Given the description of an element on the screen output the (x, y) to click on. 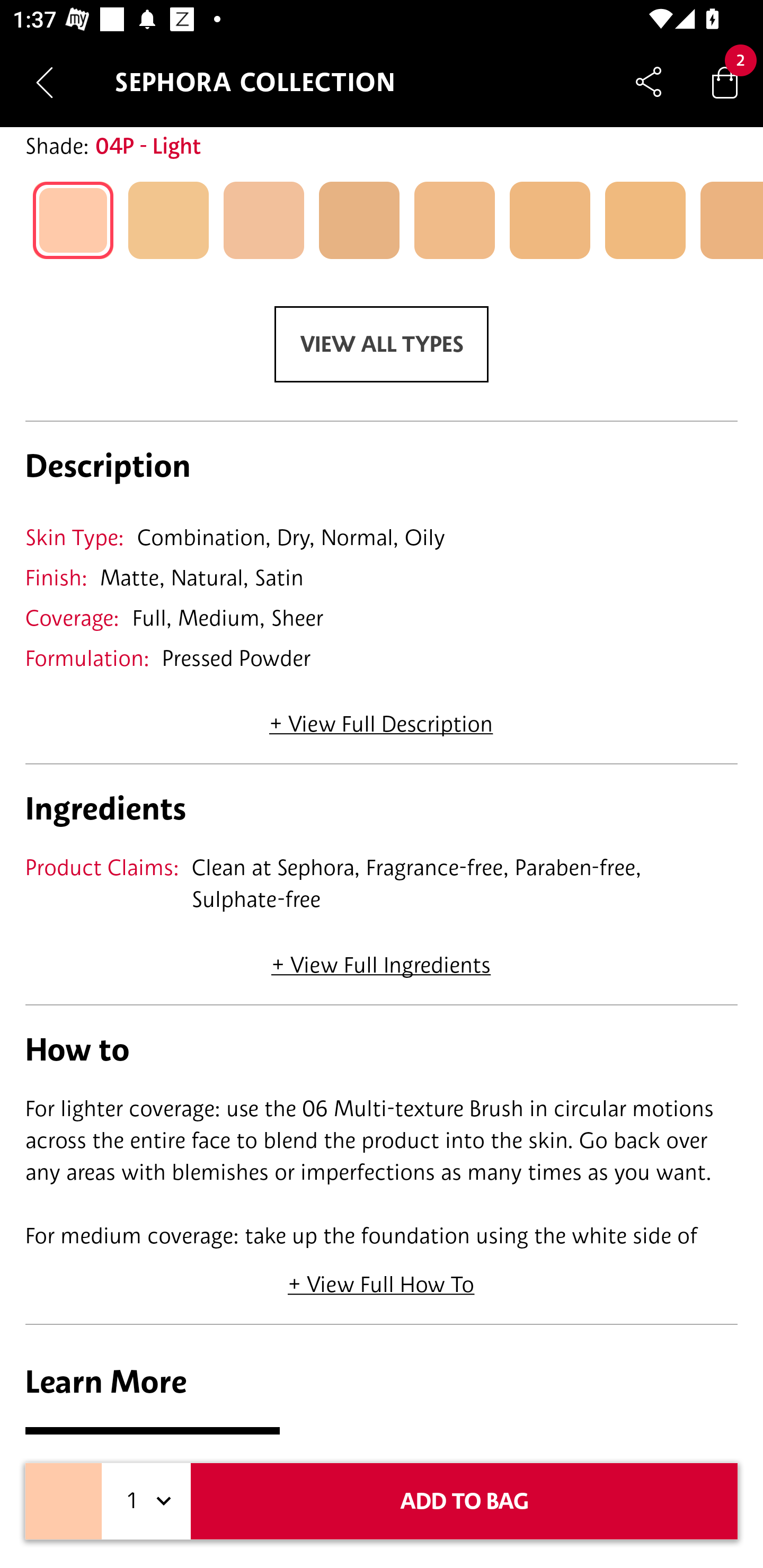
Navigate up (44, 82)
Share (648, 81)
Bag (724, 81)
VIEW ALL TYPES (381, 343)
+ View Full Description (380, 717)
+ View Full Ingredients (380, 958)
+ View Full How To (381, 1277)
1 (145, 1500)
ADD TO BAG (463, 1500)
